Given the description of an element on the screen output the (x, y) to click on. 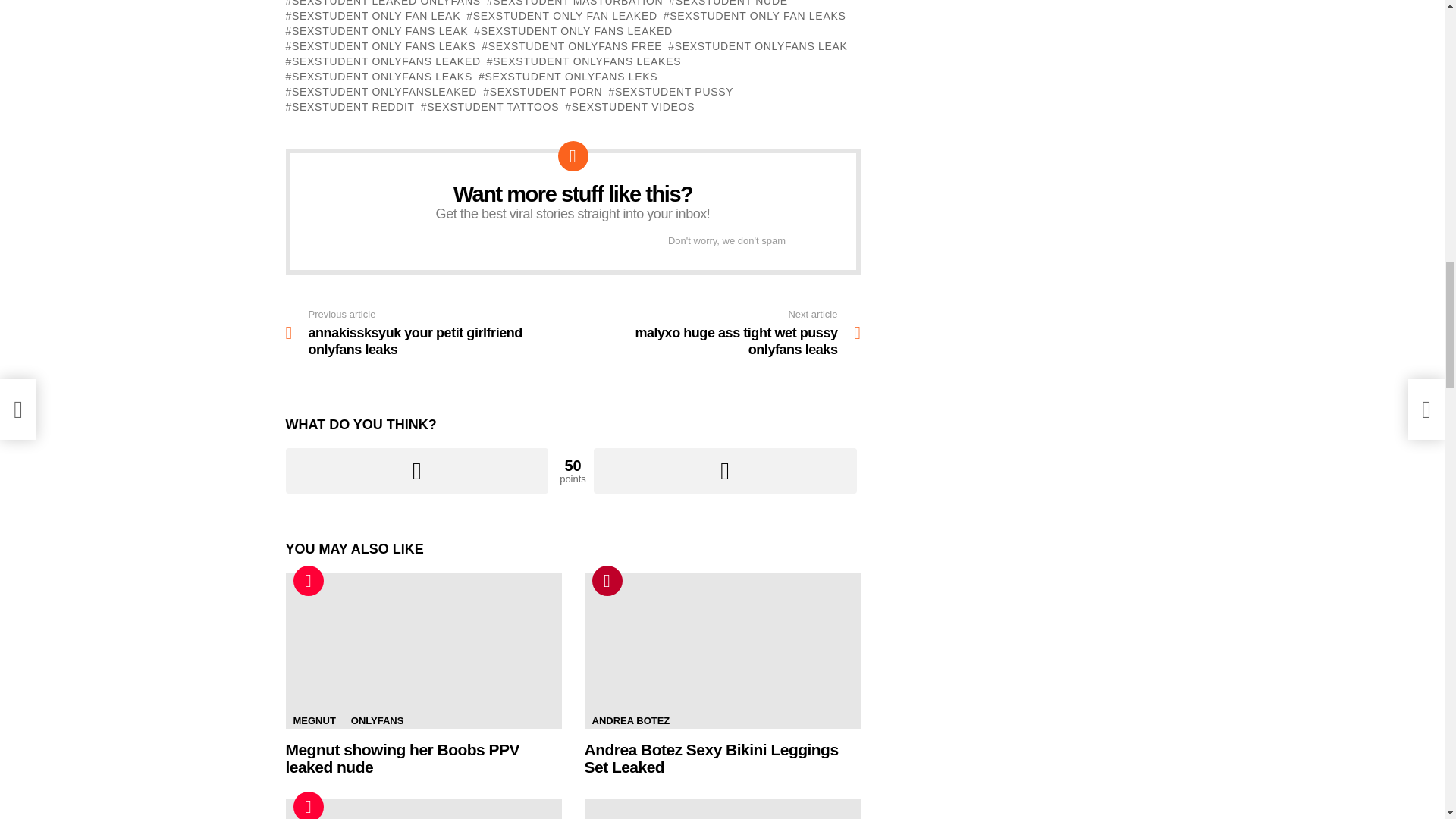
Hot (307, 805)
Megnut showing her Boobs PPV leaked nude (422, 650)
SEXSTUDENT LEAKED ONLYFANS (382, 4)
Natalie Roush Stuck In The Dryer Onlyfans PPV leak (422, 809)
SEXSTUDENT ONLY FAN LEAK (372, 15)
Piper Presley Nude  PPV Onlyfans Video Leaked (721, 809)
SEXSTUDENT ONLY FAN LEAKED (561, 15)
SEXSTUDENT MASTURBATION (574, 4)
Trending (606, 580)
SEXSTUDENT NUDE (727, 4)
Hot (307, 580)
Upvote (416, 470)
Downvote (725, 470)
Andrea Botez Sexy Bikini Leggings Set Leaked (721, 650)
SEXSTUDENT ONLY FAN LEAKS (754, 15)
